Given the description of an element on the screen output the (x, y) to click on. 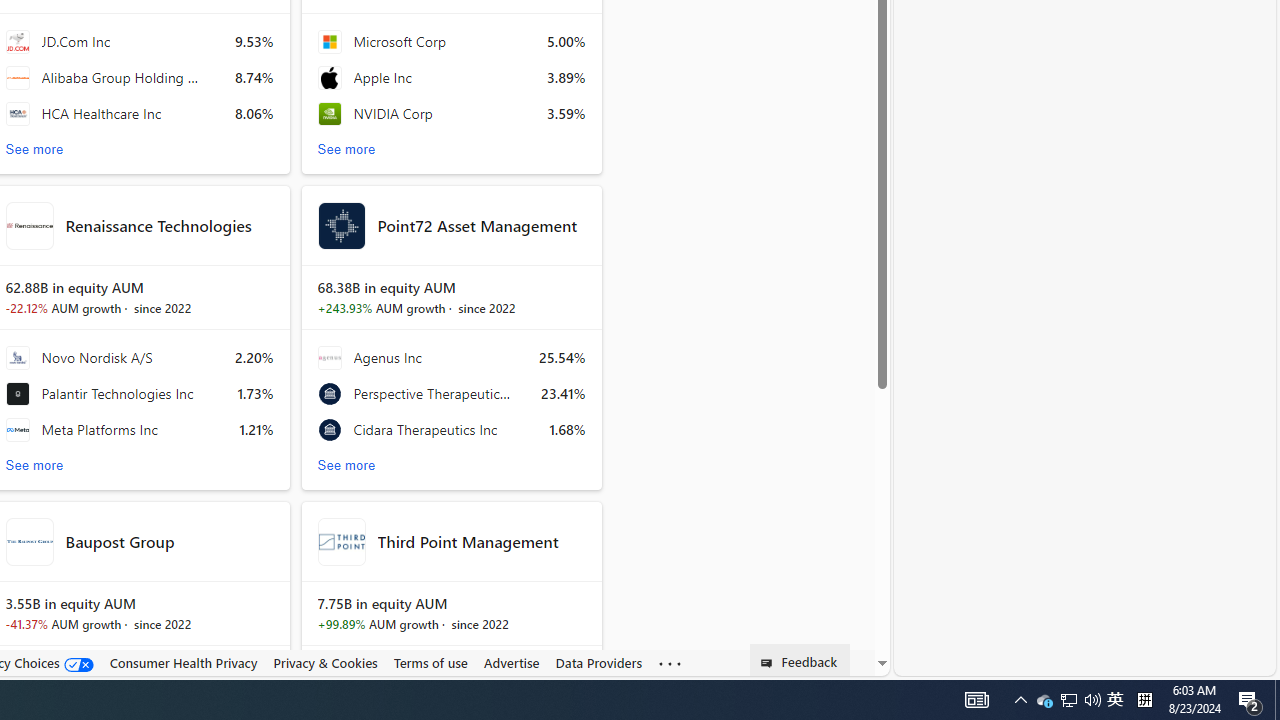
Data Providers (598, 663)
Class: feedback_link_icon-DS-EntryPoint1-1 (770, 663)
Class: oneFooter_seeMore-DS-EntryPoint1-1 (669, 663)
Data Providers (598, 662)
